Given the description of an element on the screen output the (x, y) to click on. 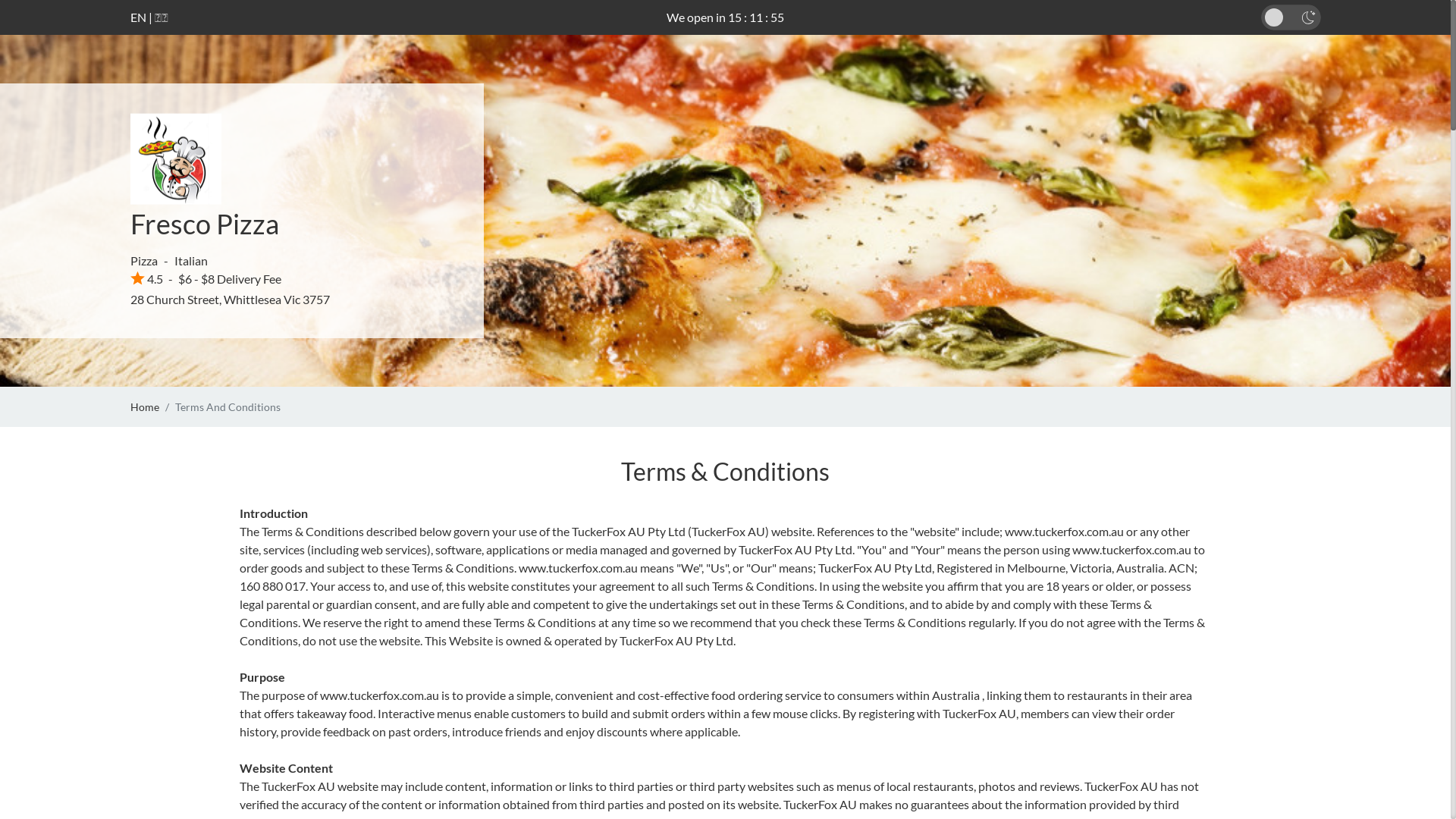
4.5 Element type: text (146, 278)
Home Element type: text (144, 406)
EN Element type: text (138, 16)
Fresco Pizza Element type: text (204, 223)
